Given the description of an element on the screen output the (x, y) to click on. 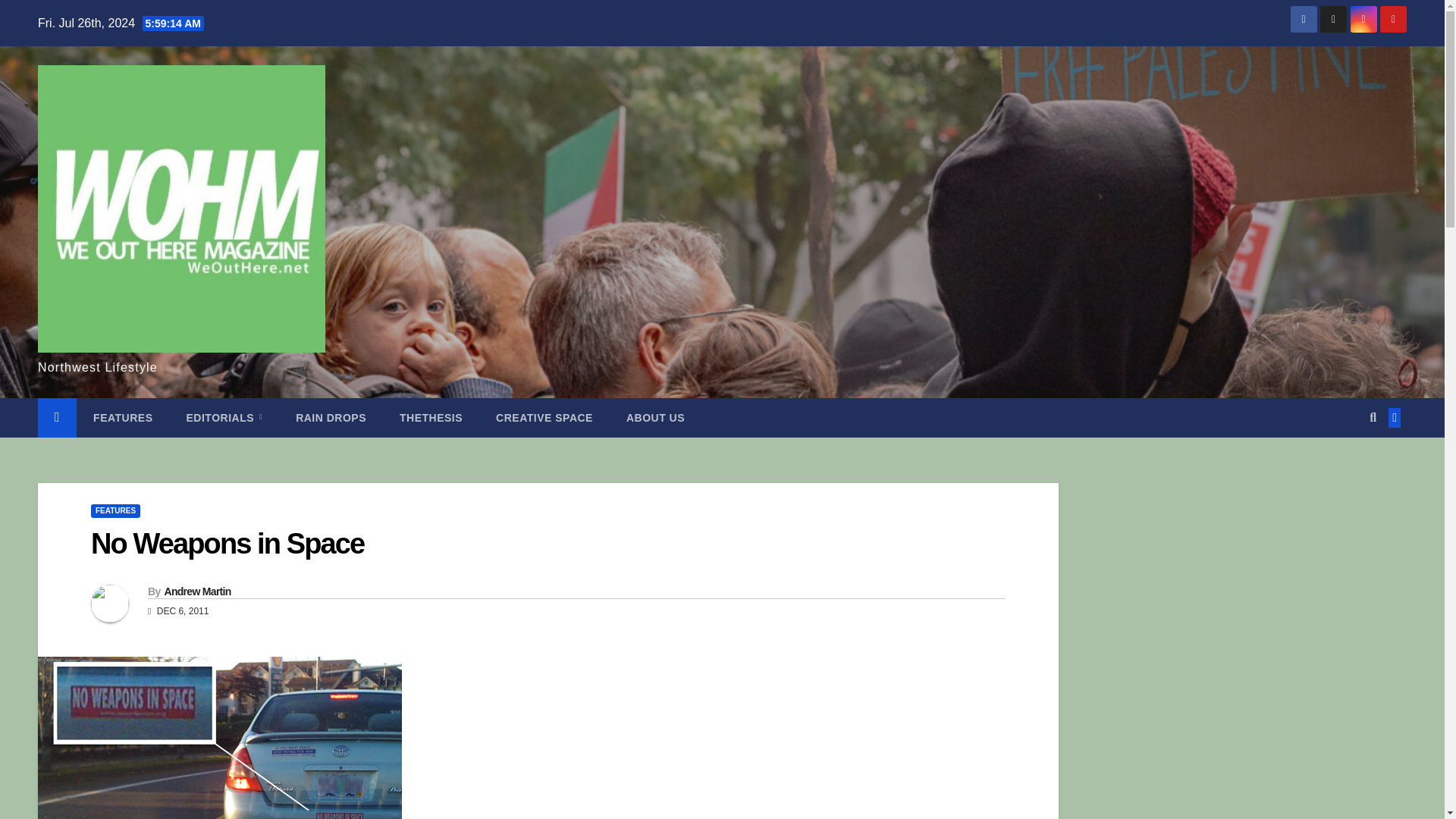
FEATURES (114, 510)
Editorials (224, 417)
Creative Space (544, 417)
TheTHESIS (430, 417)
THETHESIS (430, 417)
FEATURES (122, 417)
EDITORIALS (224, 417)
ABOUT US (655, 417)
CREATIVE SPACE (544, 417)
Permalink to: No Weapons in Space (227, 543)
Rain Drops (330, 417)
Andrew Martin (196, 591)
Features (122, 417)
RAIN DROPS (330, 417)
About Us (655, 417)
